Given the description of an element on the screen output the (x, y) to click on. 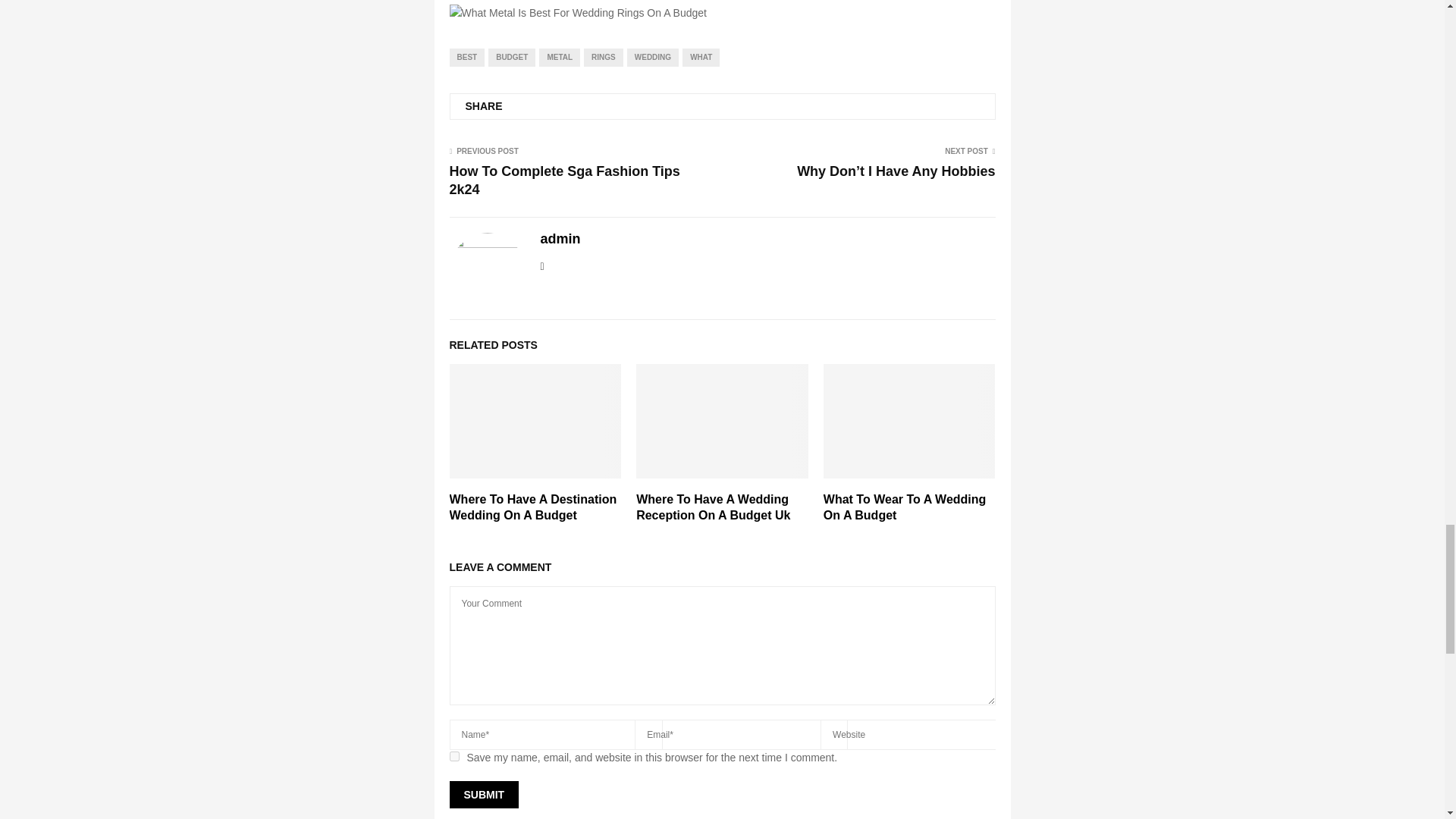
yes (453, 756)
Posts by admin (559, 239)
Submit (483, 794)
